Given the description of an element on the screen output the (x, y) to click on. 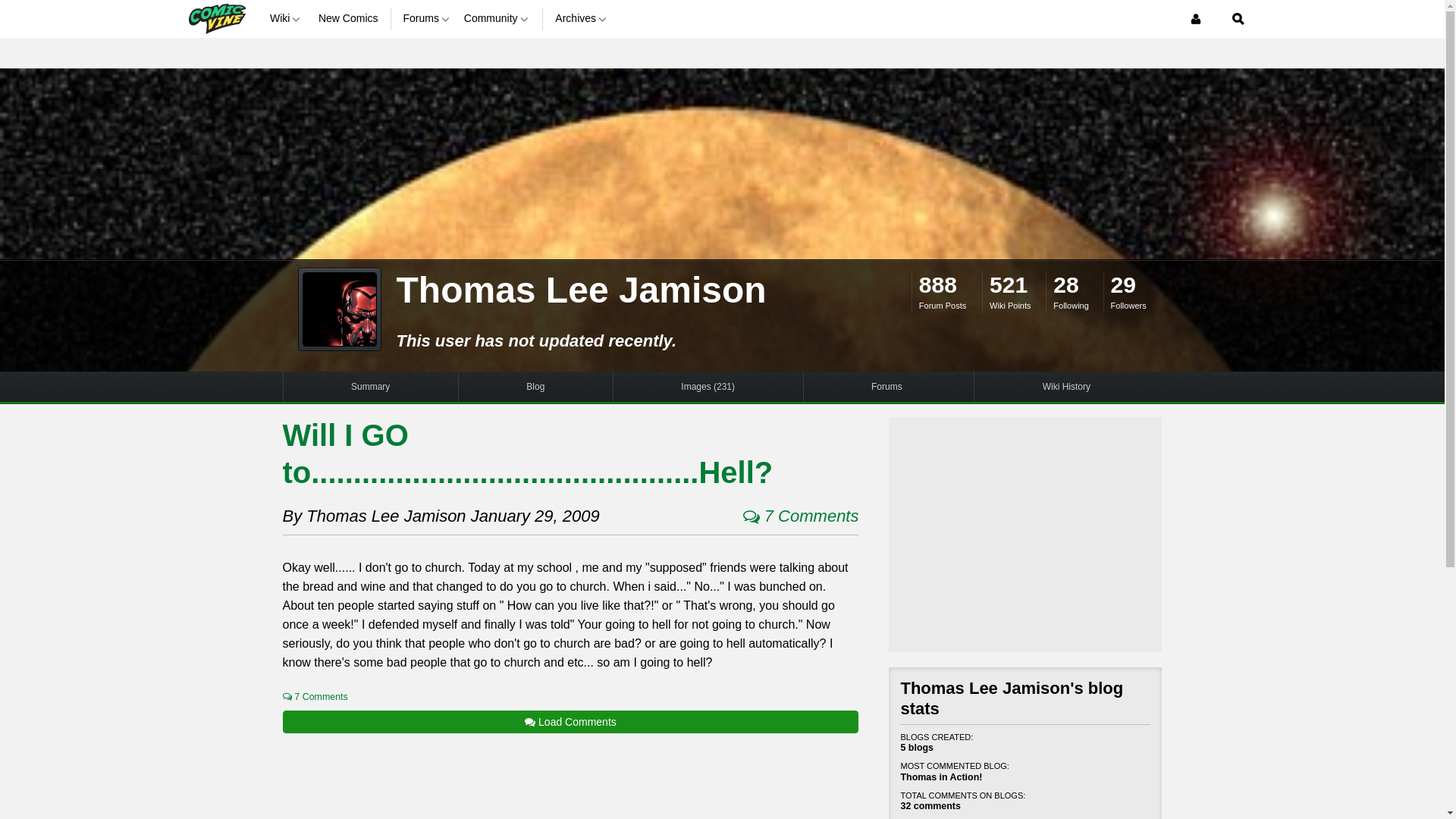
New Comics (348, 18)
Forums (427, 18)
Wiki (287, 18)
Community (497, 18)
Comic Vine (215, 18)
